Given the description of an element on the screen output the (x, y) to click on. 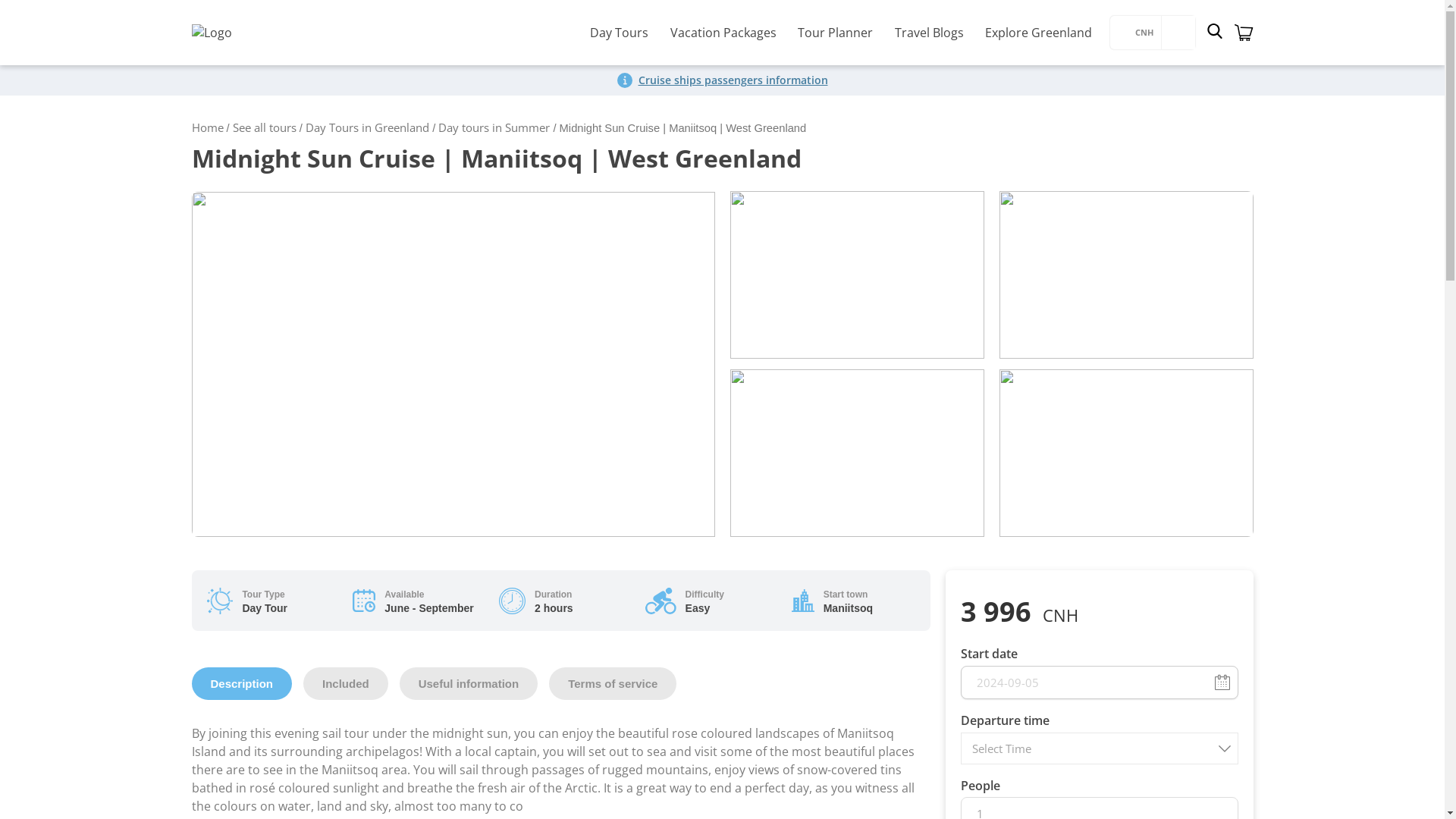
Tour Planner (835, 32)
whale-safari-maniitsoq-west-greenland-Guide to Greenland7 (856, 274)
Travel Blogs (928, 32)
2024-09-05 (1098, 682)
COVID-19 information (733, 79)
Vacation Packages (723, 32)
Explore Greenland (1037, 32)
